Given the description of an element on the screen output the (x, y) to click on. 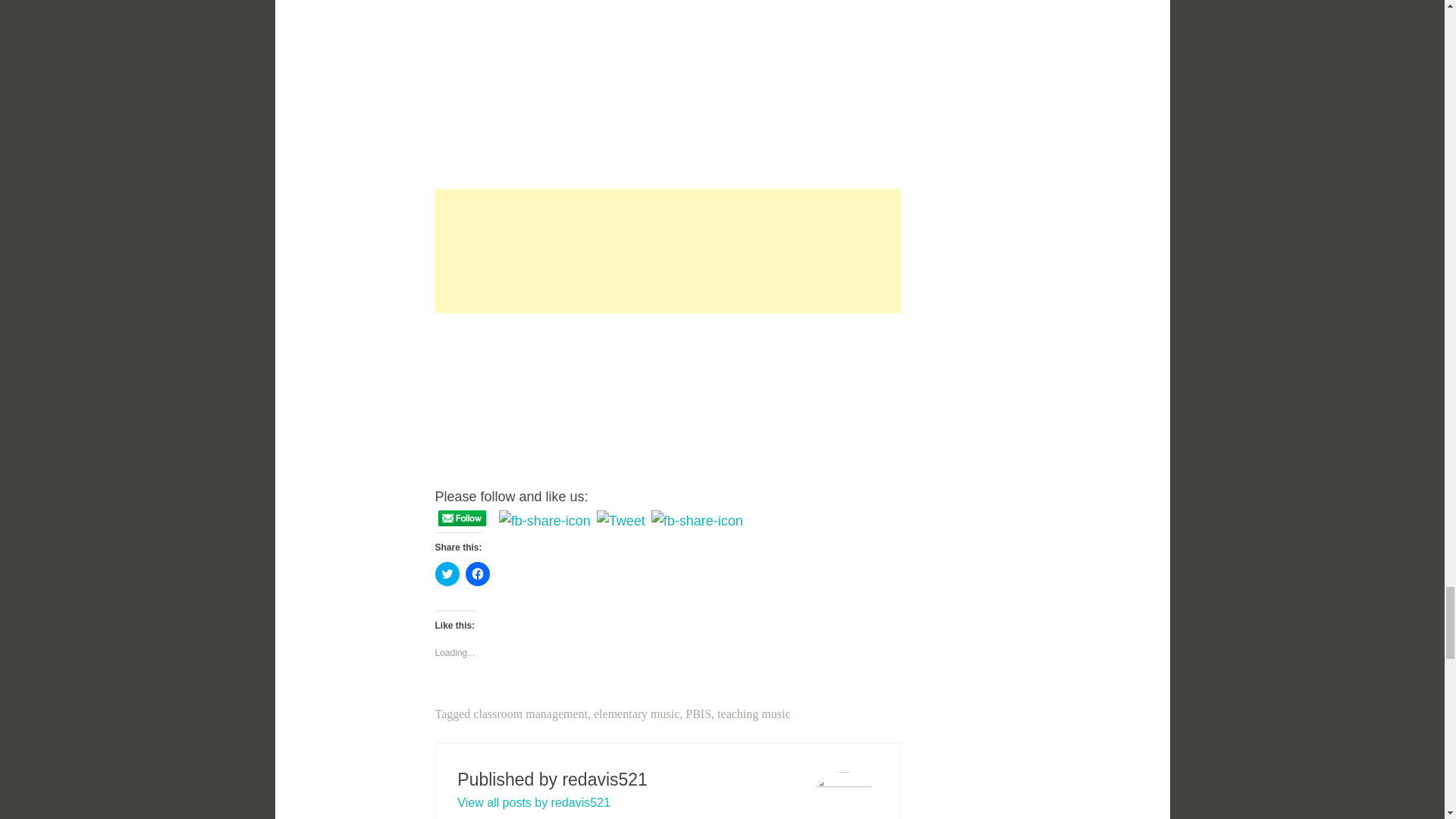
Facebook Share (545, 521)
Click to share on Facebook (477, 573)
Pin Share (696, 521)
Tweet (620, 521)
Click to share on Twitter (447, 573)
